Given the description of an element on the screen output the (x, y) to click on. 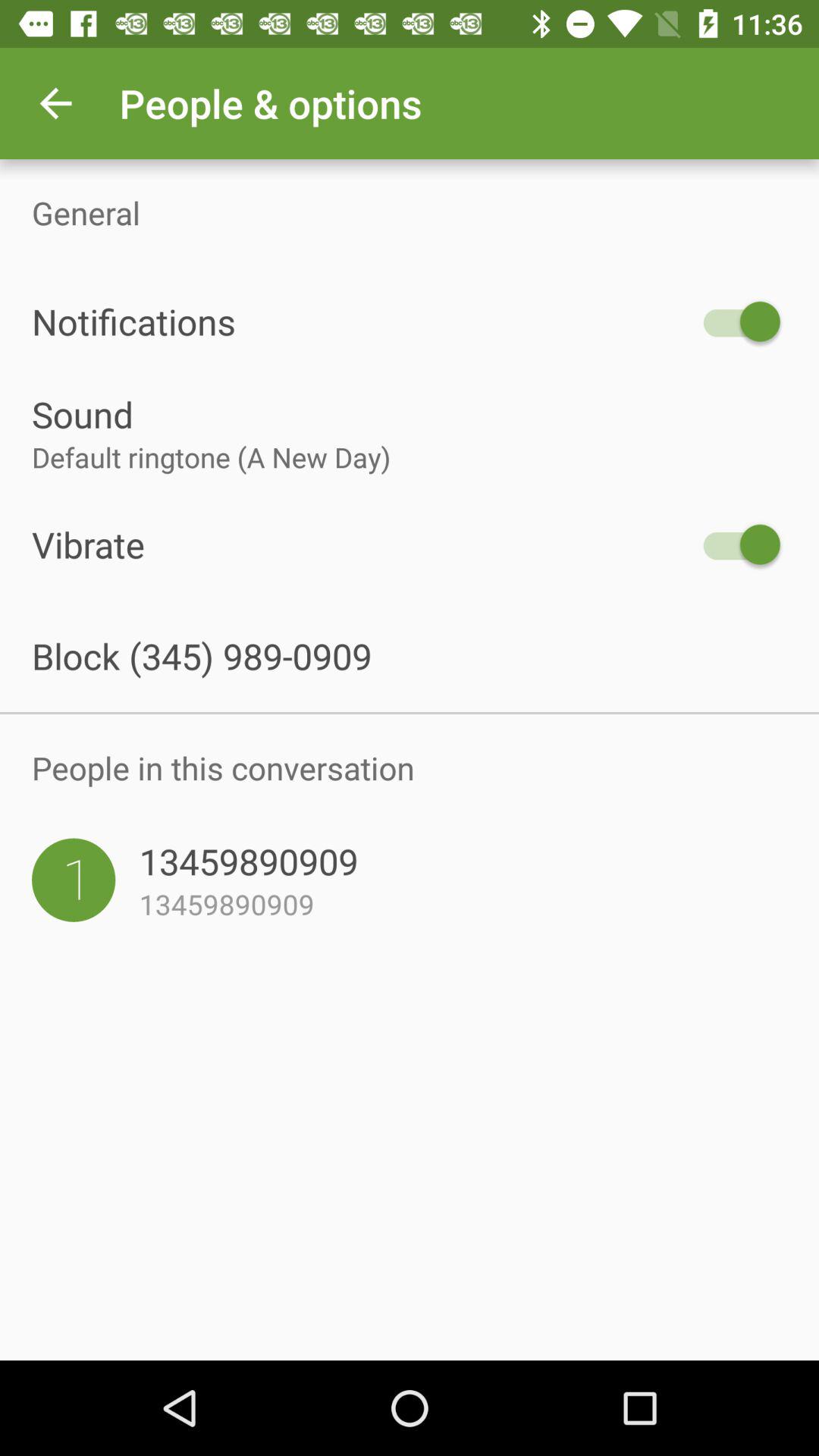
press notifications item (361, 321)
